Given the description of an element on the screen output the (x, y) to click on. 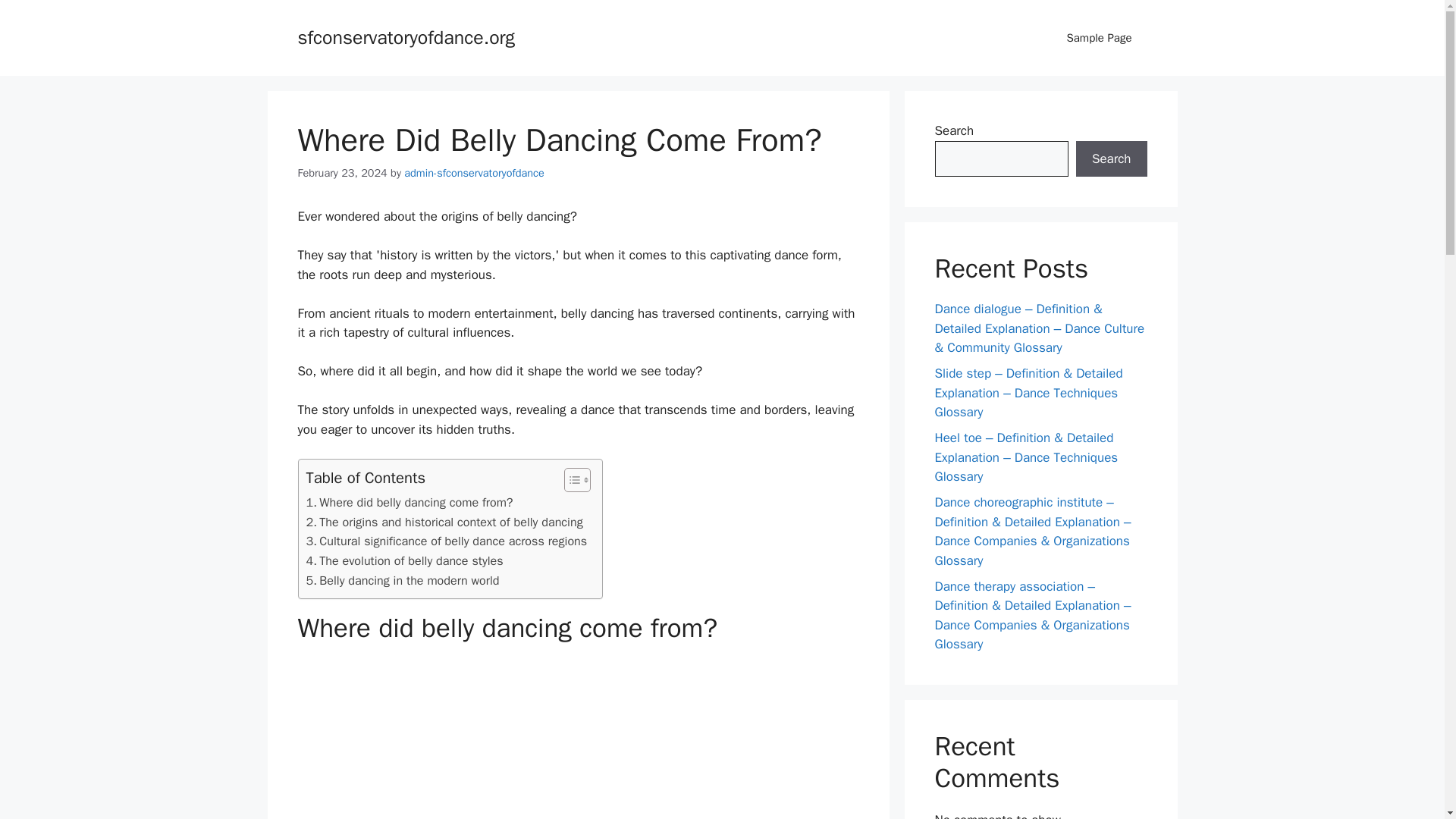
The evolution of belly dance styles (404, 560)
admin-sfconservatoryofdance (474, 172)
The origins and historical context of belly dancing (444, 522)
YouTube video player (578, 739)
The evolution of belly dance styles (404, 560)
sfconservatoryofdance.org (406, 37)
Belly dancing in the modern world (402, 580)
Search (1111, 158)
The origins and historical context of belly dancing (444, 522)
Cultural significance of belly dance across regions (446, 541)
View all posts by admin-sfconservatoryofdance (474, 172)
Belly dancing in the modern world (402, 580)
Cultural significance of belly dance across regions (446, 541)
Where did belly dancing come from? (409, 502)
Where did belly dancing come from? (409, 502)
